Given the description of an element on the screen output the (x, y) to click on. 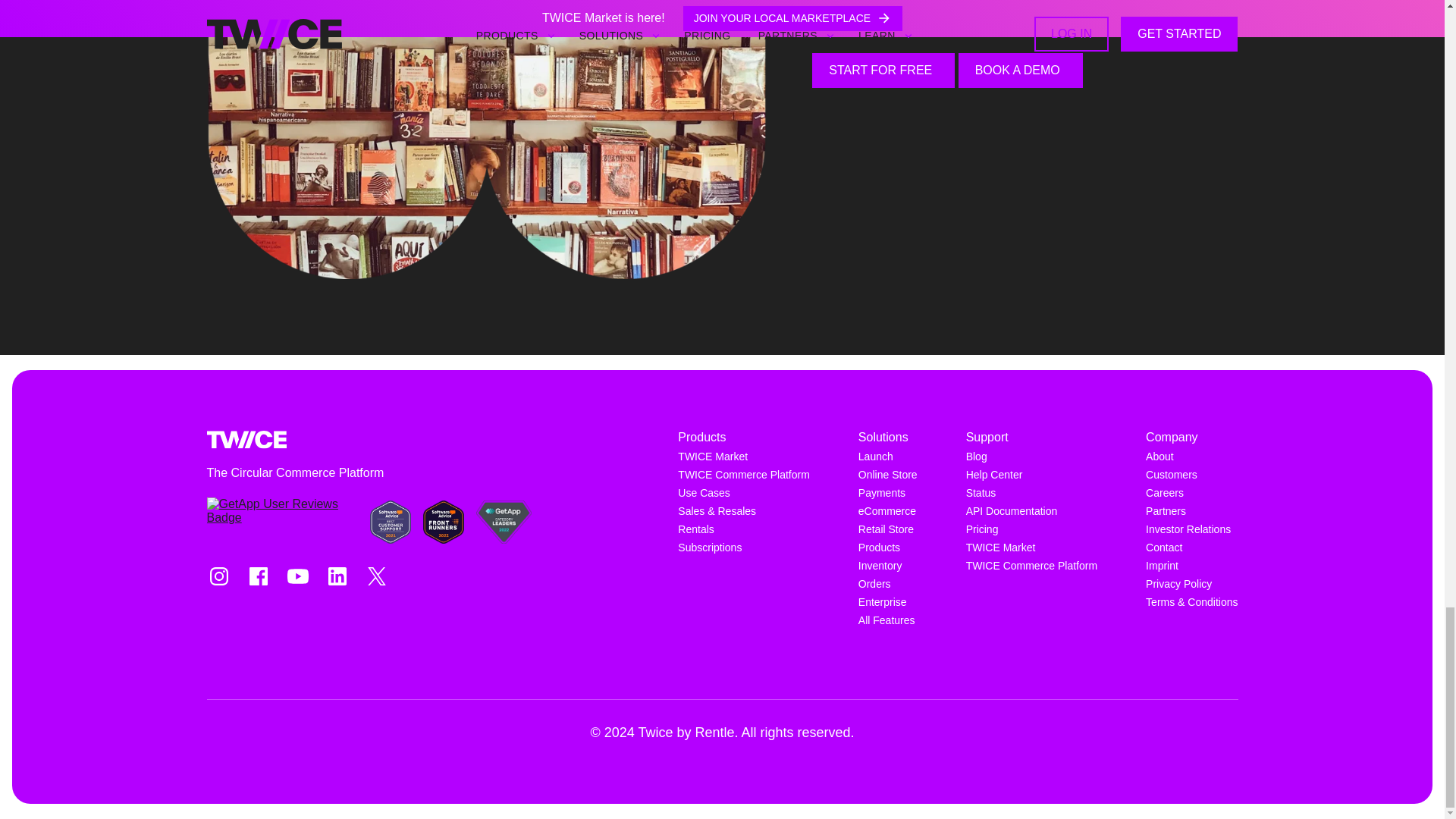
Logo, link to front page. (245, 439)
Facebook (257, 576)
